Given the description of an element on the screen output the (x, y) to click on. 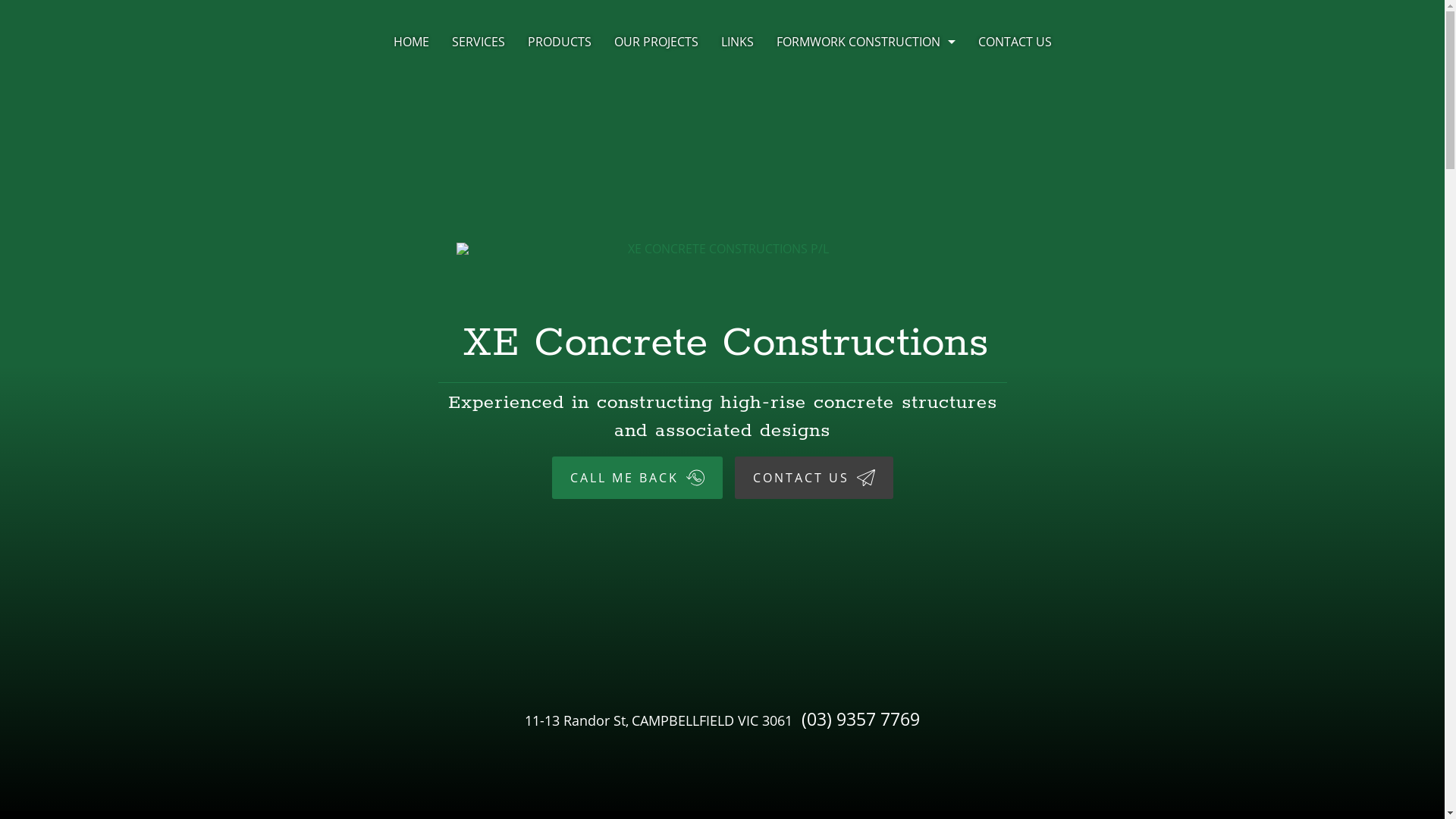
(03) 9357 7769 Element type: text (860, 719)
PRODUCTS Element type: text (558, 41)
HOME Element type: text (411, 41)
CALL ME BACK Element type: text (637, 477)
OUR PROJECTS Element type: text (655, 41)
CONTACT US Element type: text (1014, 41)
XE Concrete Constructions Element type: text (722, 299)
LINKS Element type: text (737, 41)
SERVICES Element type: text (477, 41)
FORMWORK CONSTRUCTION Element type: text (865, 41)
CONTACT US Element type: text (813, 477)
